Given the description of an element on the screen output the (x, y) to click on. 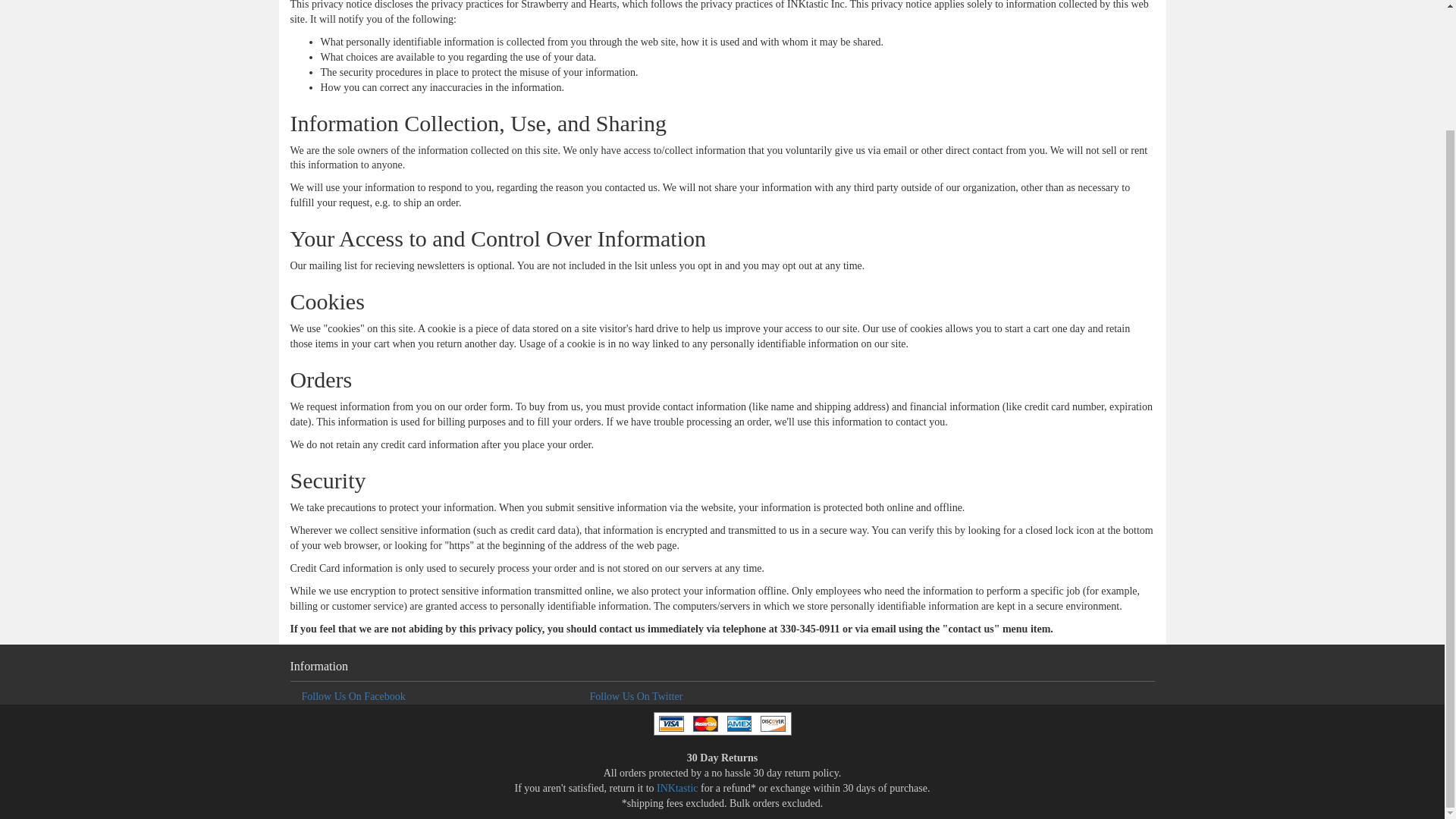
Follow Us On Facebook (353, 696)
Follow Us On Twitter (635, 696)
INKtastic (676, 787)
